Given the description of an element on the screen output the (x, y) to click on. 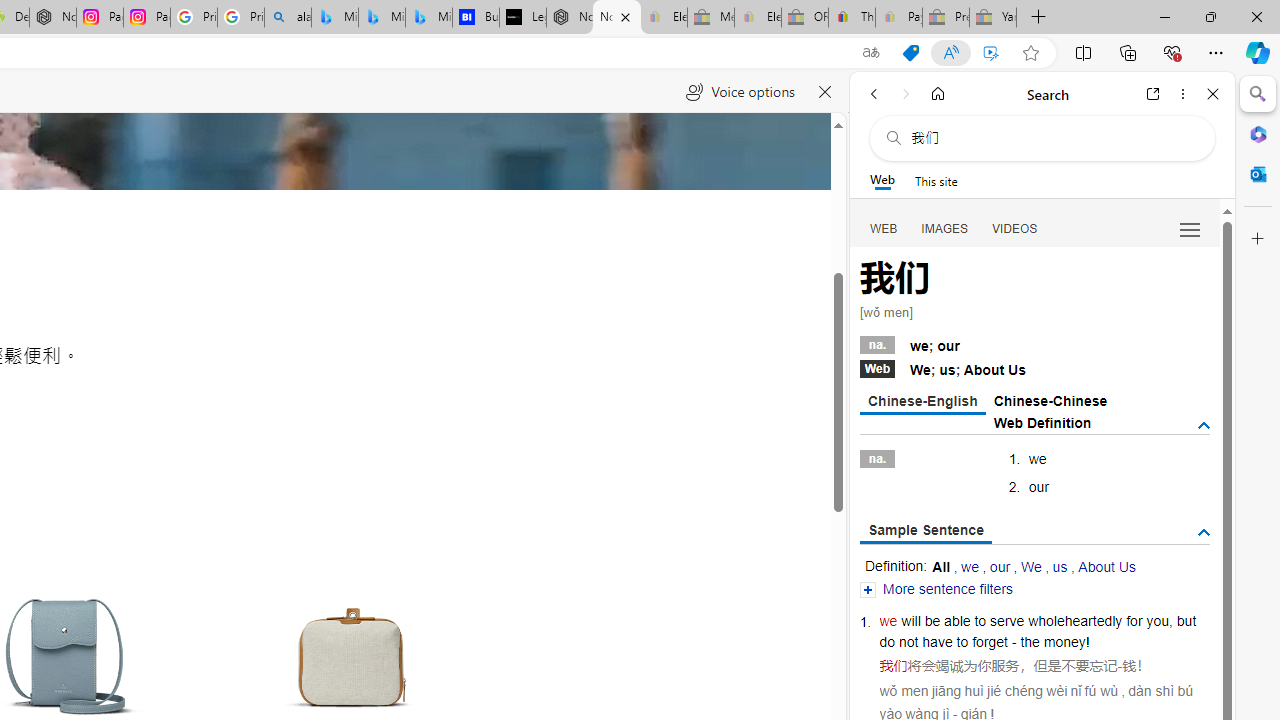
, (1170, 620)
